Given the description of an element on the screen output the (x, y) to click on. 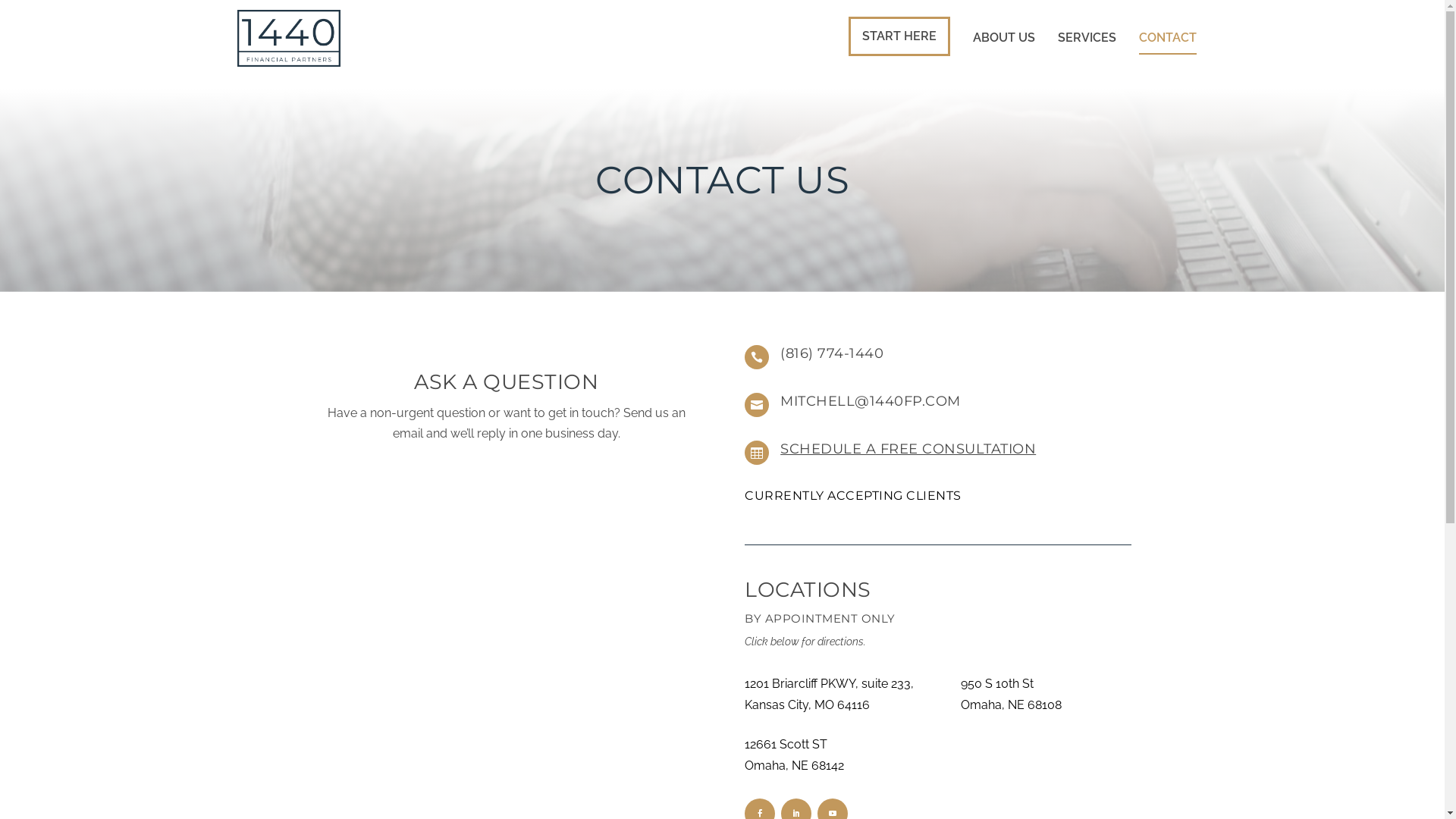
1201 Briarcliff PKWY, suite 233, Element type: text (828, 683)
CONTACT Element type: text (1167, 53)
ABOUT US Element type: text (1003, 53)
Kansas City, MO 64116 Element type: text (806, 704)
950 S 10th St Element type: text (996, 683)
12661 Scott ST Element type: text (785, 744)
Omaha, NE 68108 Element type: text (1010, 704)
START HERE Element type: text (898, 36)
SERVICES Element type: text (1086, 53)
Omaha, NE 68142 Element type: text (794, 765)
